Given the description of an element on the screen output the (x, y) to click on. 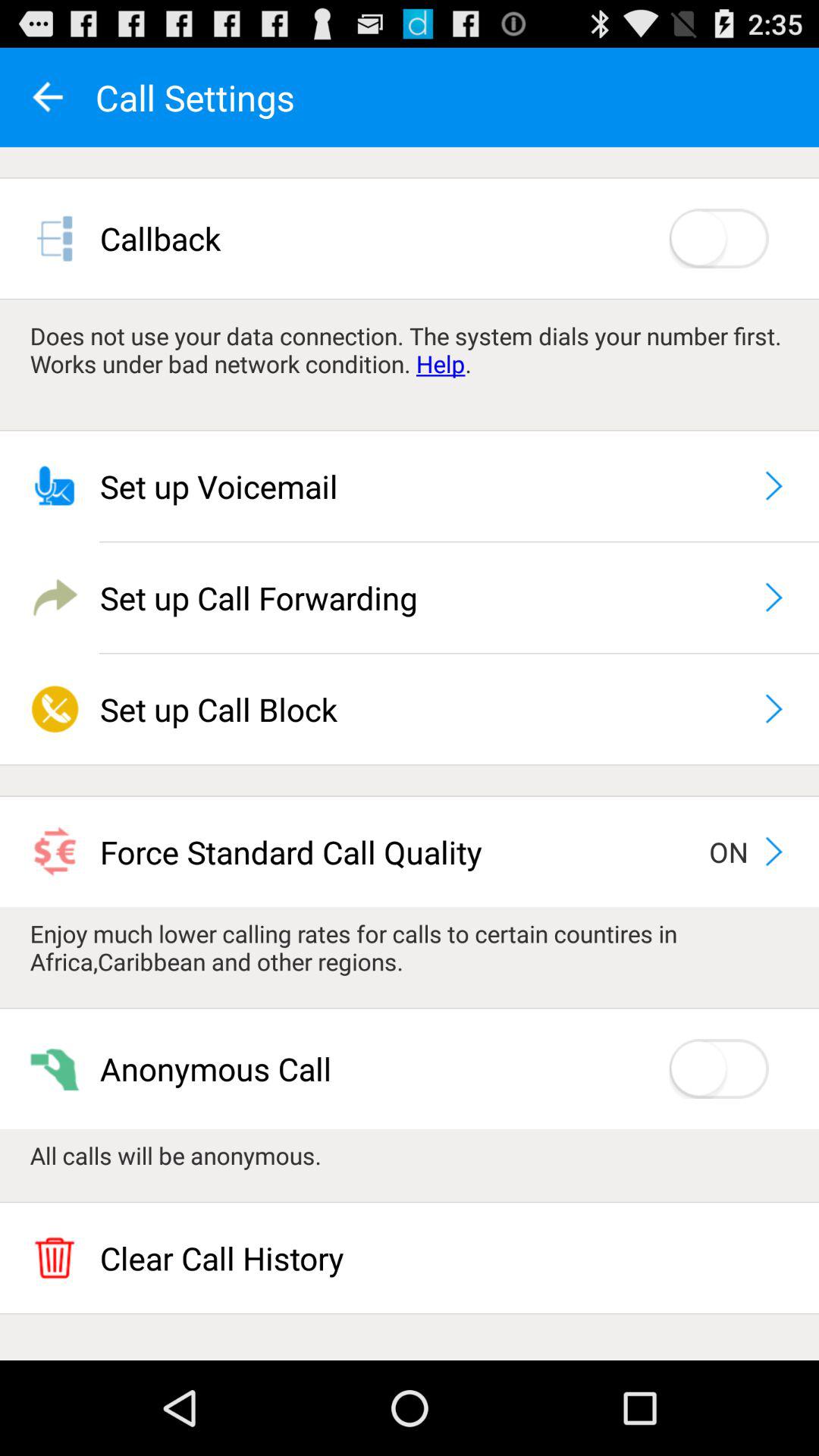
choose the does not use app (409, 349)
